Given the description of an element on the screen output the (x, y) to click on. 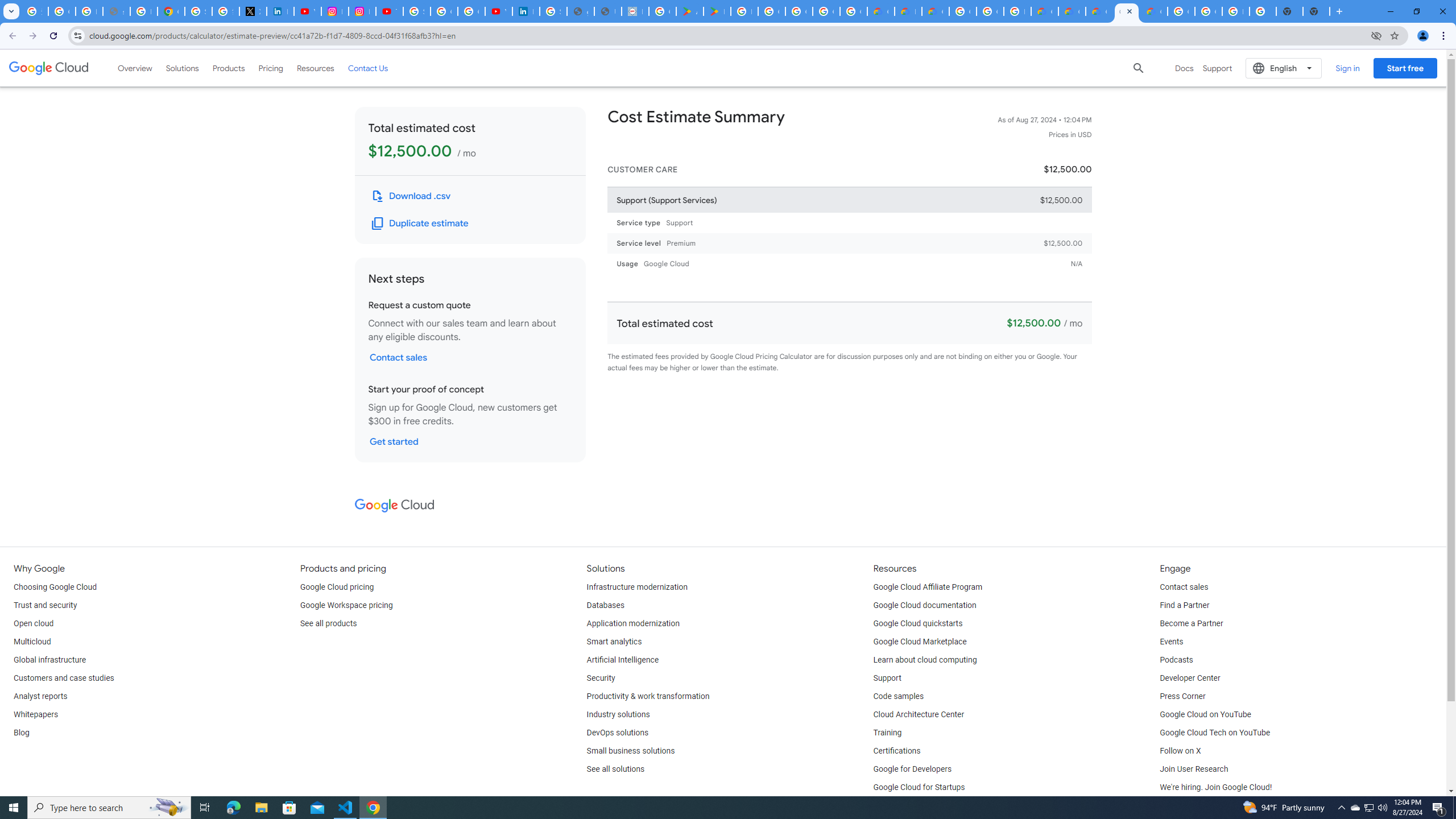
Google Cloud Platform (1180, 11)
Blog (21, 732)
Multicloud (31, 642)
Download .csv file (412, 196)
Find a Partner (1183, 605)
Google Workspace - Specific Terms (853, 11)
Learn about cloud computing (924, 660)
Docs (1183, 67)
Google Cloud Platform (990, 11)
Google Cloud documentation (924, 605)
Products (228, 67)
